Given the description of an element on the screen output the (x, y) to click on. 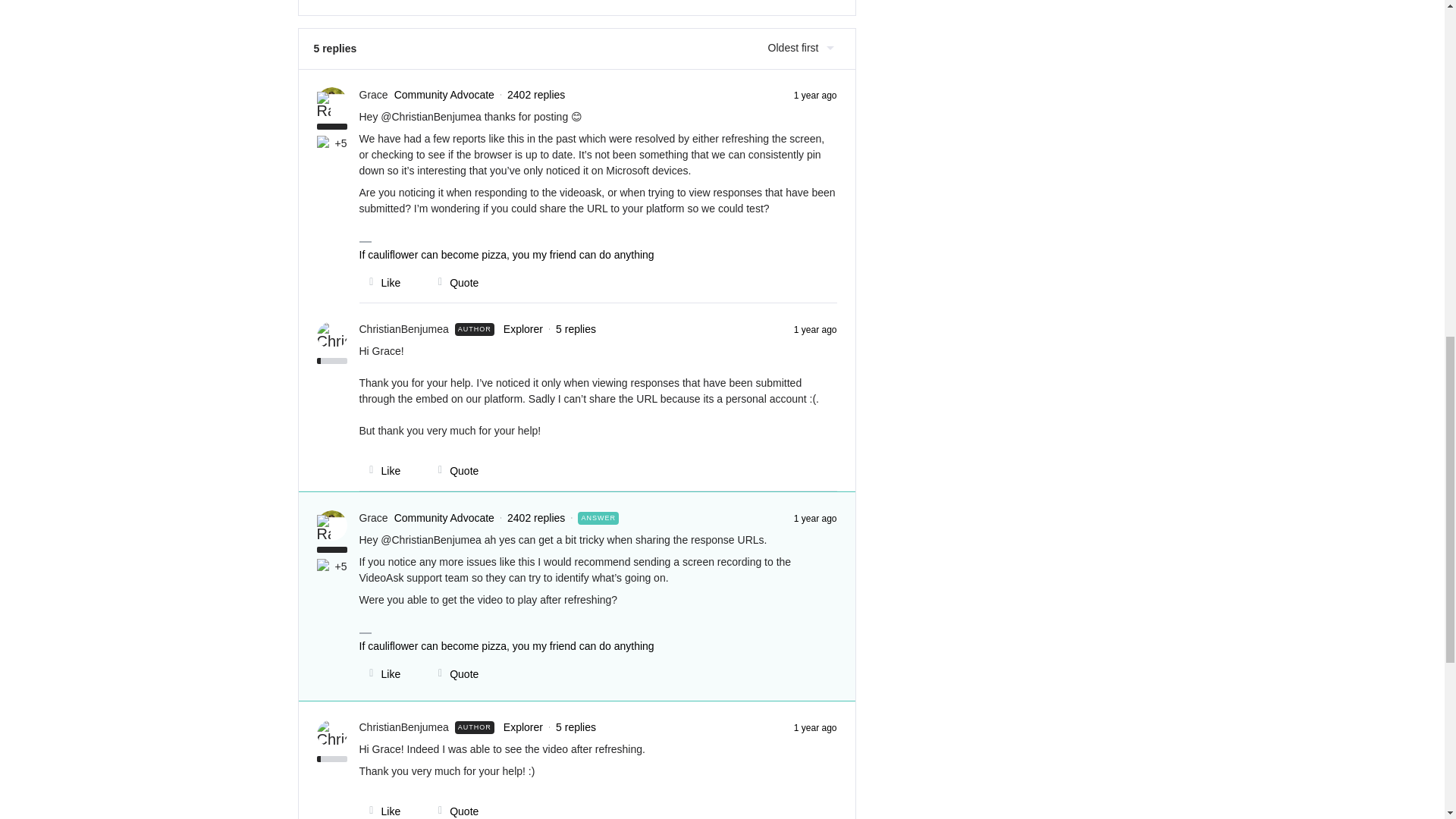
Engineer (324, 142)
Quote (453, 811)
Grace (373, 94)
1 year ago (815, 328)
1 year ago (815, 517)
Engineer (324, 566)
Like (380, 470)
Like (380, 281)
ChristianBenjumea (403, 727)
Quote (453, 470)
